Given the description of an element on the screen output the (x, y) to click on. 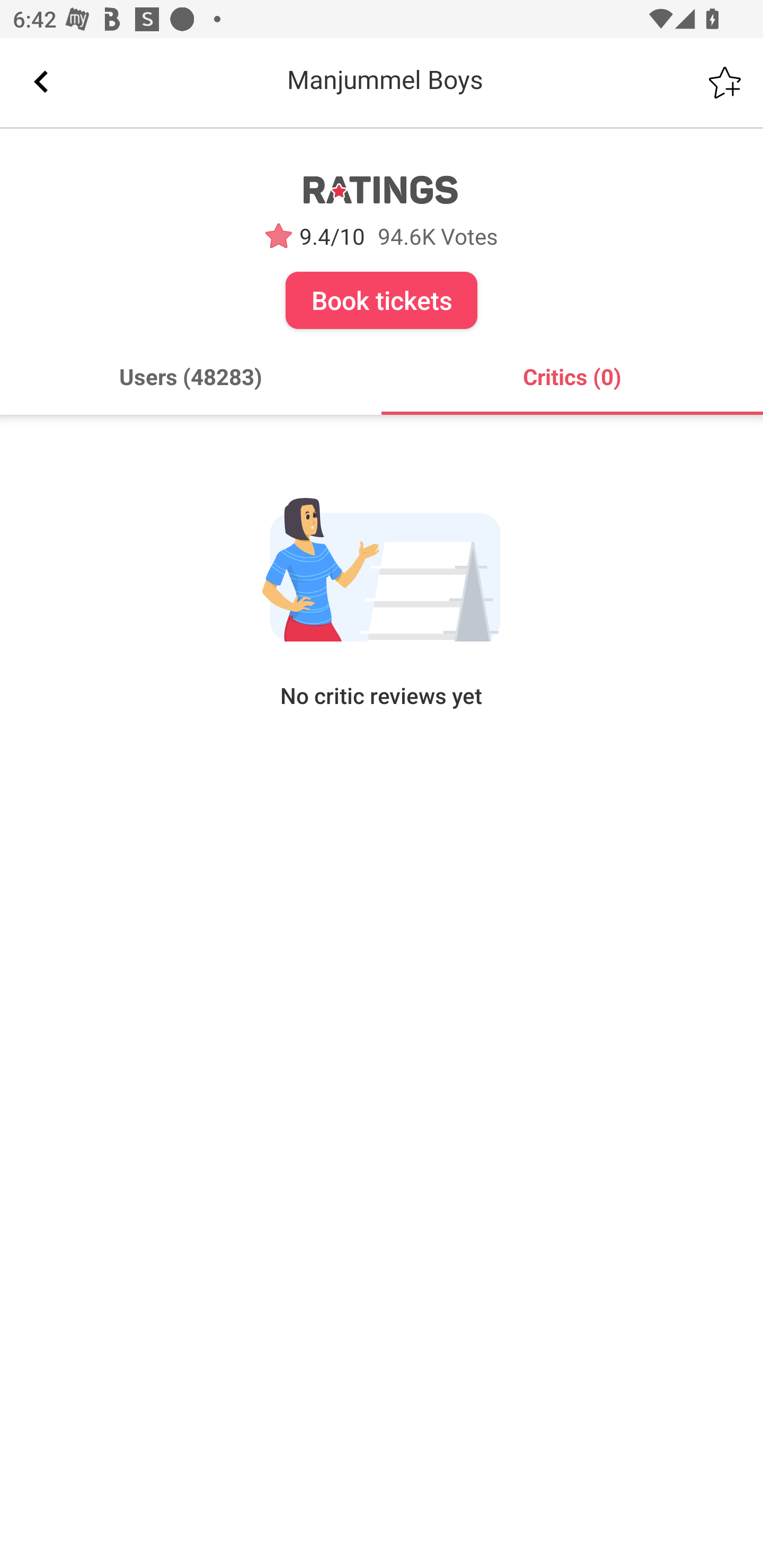
Back (41, 82)
Book tickets (381, 299)
Users (48283) (190, 376)
